Given the description of an element on the screen output the (x, y) to click on. 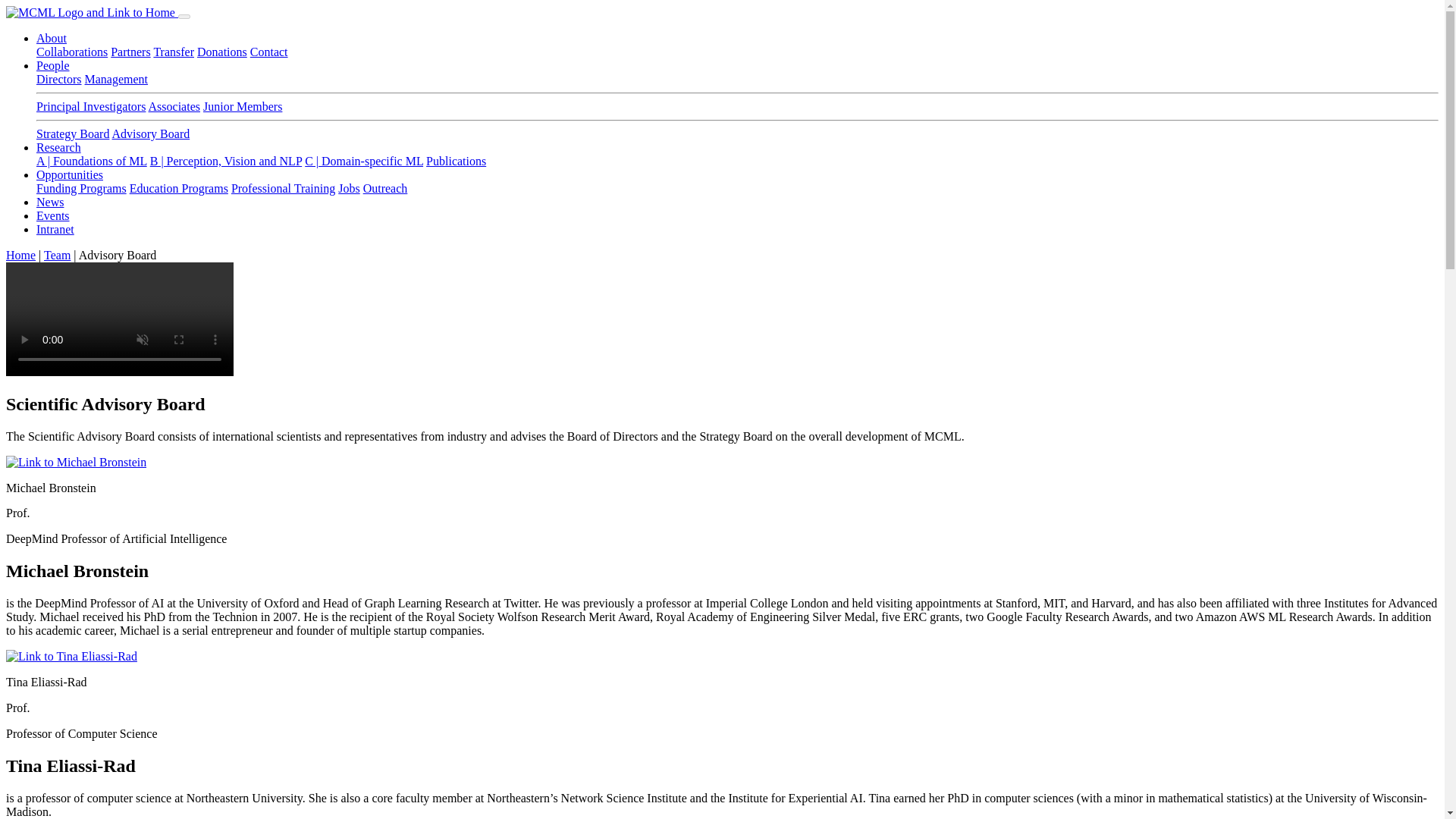
Team (56, 254)
Research (58, 146)
Junior Members (242, 106)
Outreach (384, 187)
News (50, 201)
Events (52, 215)
Publications (456, 160)
People (52, 65)
Donations (221, 51)
Collaborations (71, 51)
Partners (129, 51)
Management (116, 78)
Contact (269, 51)
Intranet (55, 228)
Professional Training (282, 187)
